Given the description of an element on the screen output the (x, y) to click on. 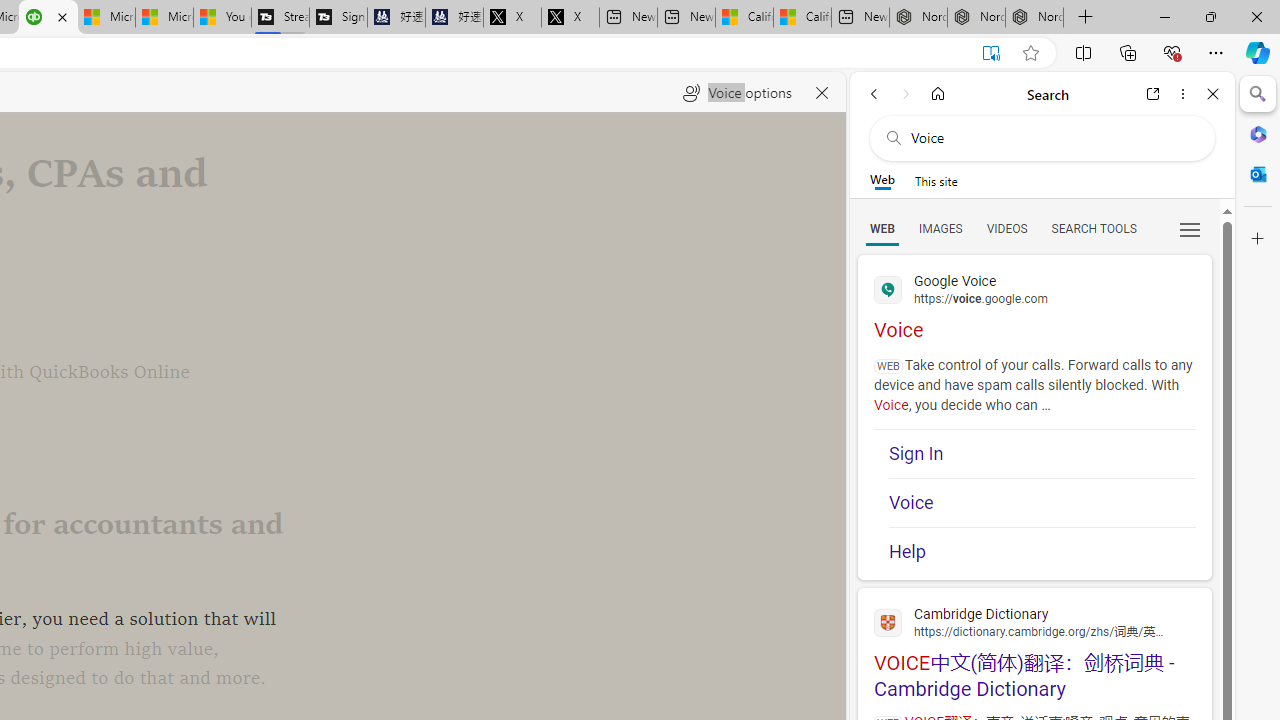
Accounting Software for Accountants, CPAs and Bookkeepers (48, 17)
VIDEOS (1006, 228)
Exit Immersive Reader (F9) (991, 53)
Preferences (1189, 228)
Class: b_serphb (1190, 229)
Close read aloud (821, 92)
Home (938, 93)
SEARCH TOOLS (1093, 228)
